Given the description of an element on the screen output the (x, y) to click on. 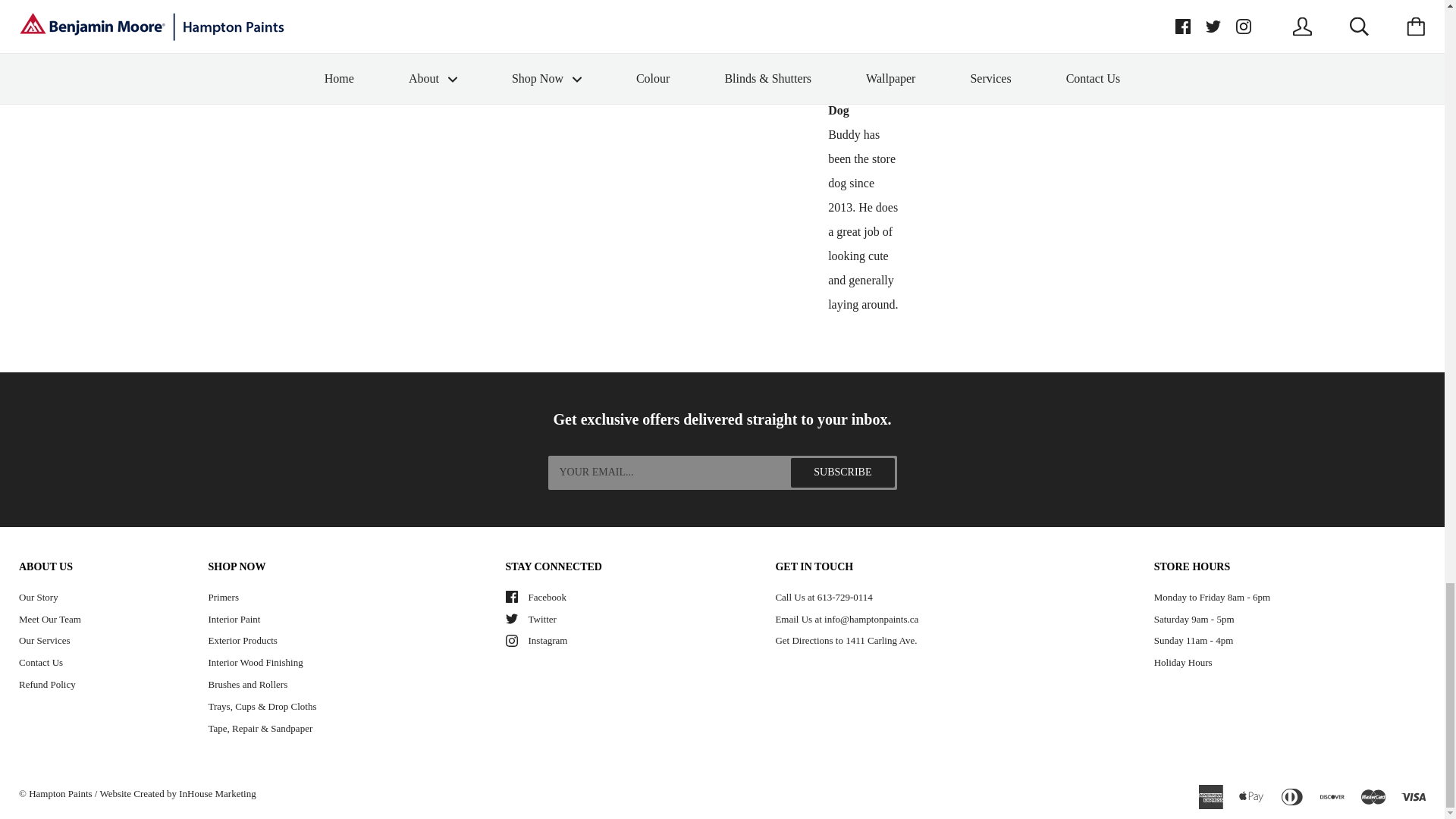
Subscribe (841, 472)
Twitter (510, 618)
Instagram (510, 640)
Facebook (510, 596)
